Given the description of an element on the screen output the (x, y) to click on. 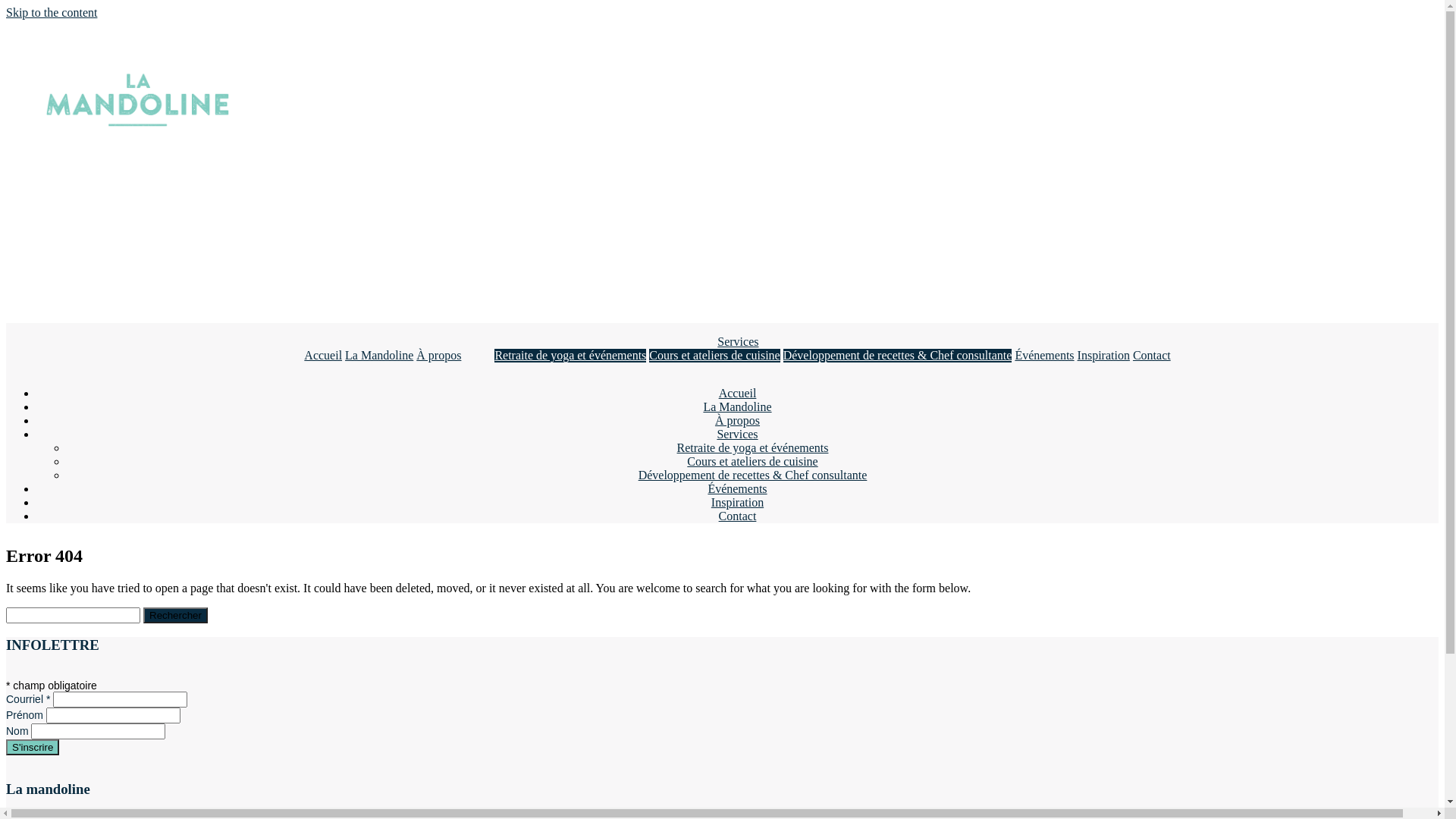
Accueil Element type: text (323, 354)
Services Element type: text (736, 433)
Accueil Element type: text (737, 392)
Rechercher Element type: text (175, 615)
Cours et ateliers de cuisine Element type: text (714, 354)
Inspiration Element type: text (1103, 354)
Services Element type: text (737, 341)
Cours et ateliers de cuisine Element type: text (752, 461)
S'inscrire Element type: text (32, 747)
La Mandoline Element type: text (379, 354)
La Mandoline Element type: text (736, 406)
Contact Element type: text (1151, 354)
Contact Element type: text (737, 515)
Skip to the content Element type: text (51, 12)
Inspiration Element type: text (737, 501)
